Given the description of an element on the screen output the (x, y) to click on. 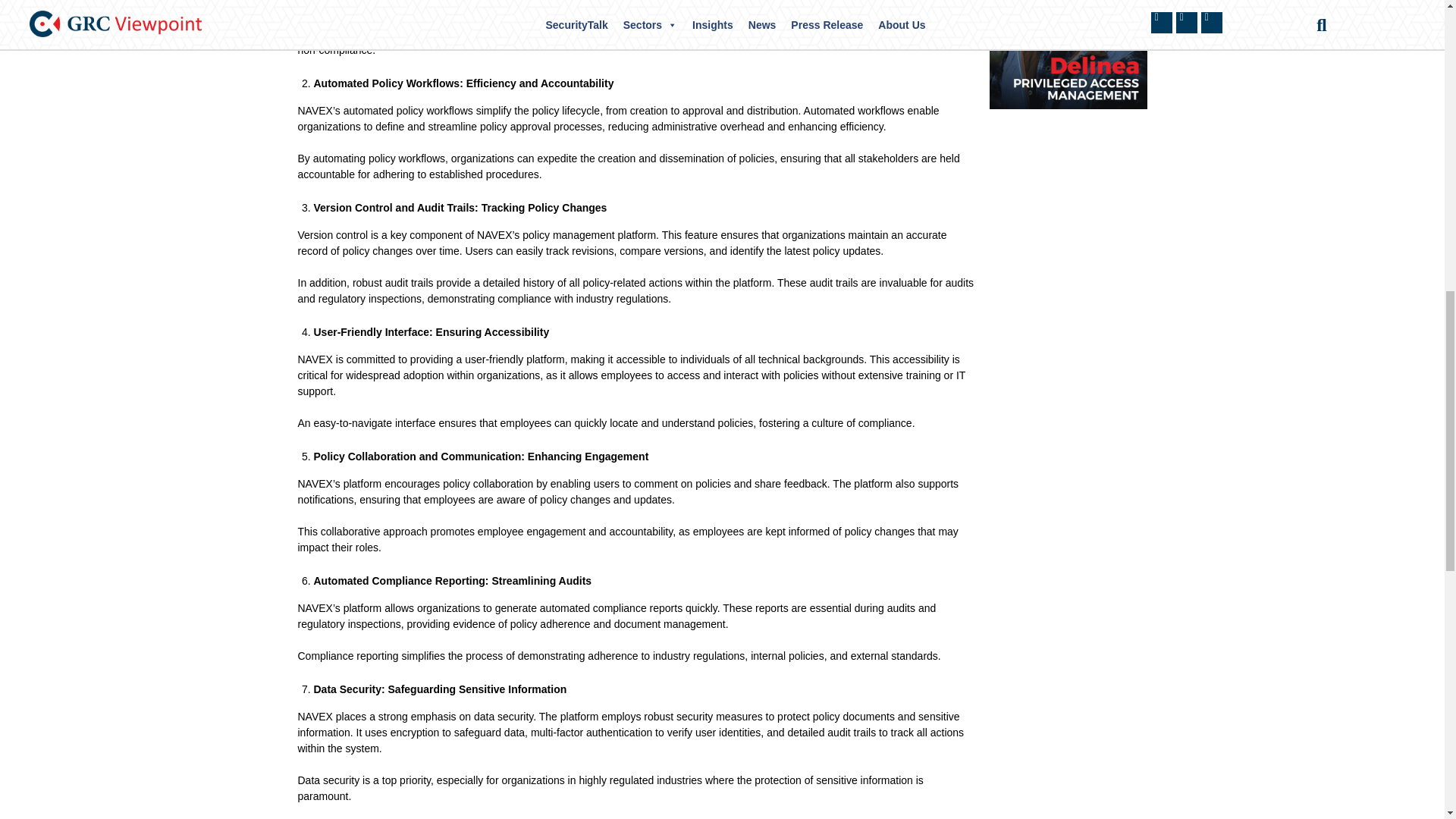
top-10-policy-management-solution-providers-2023-1-1 (1067, 54)
